Given the description of an element on the screen output the (x, y) to click on. 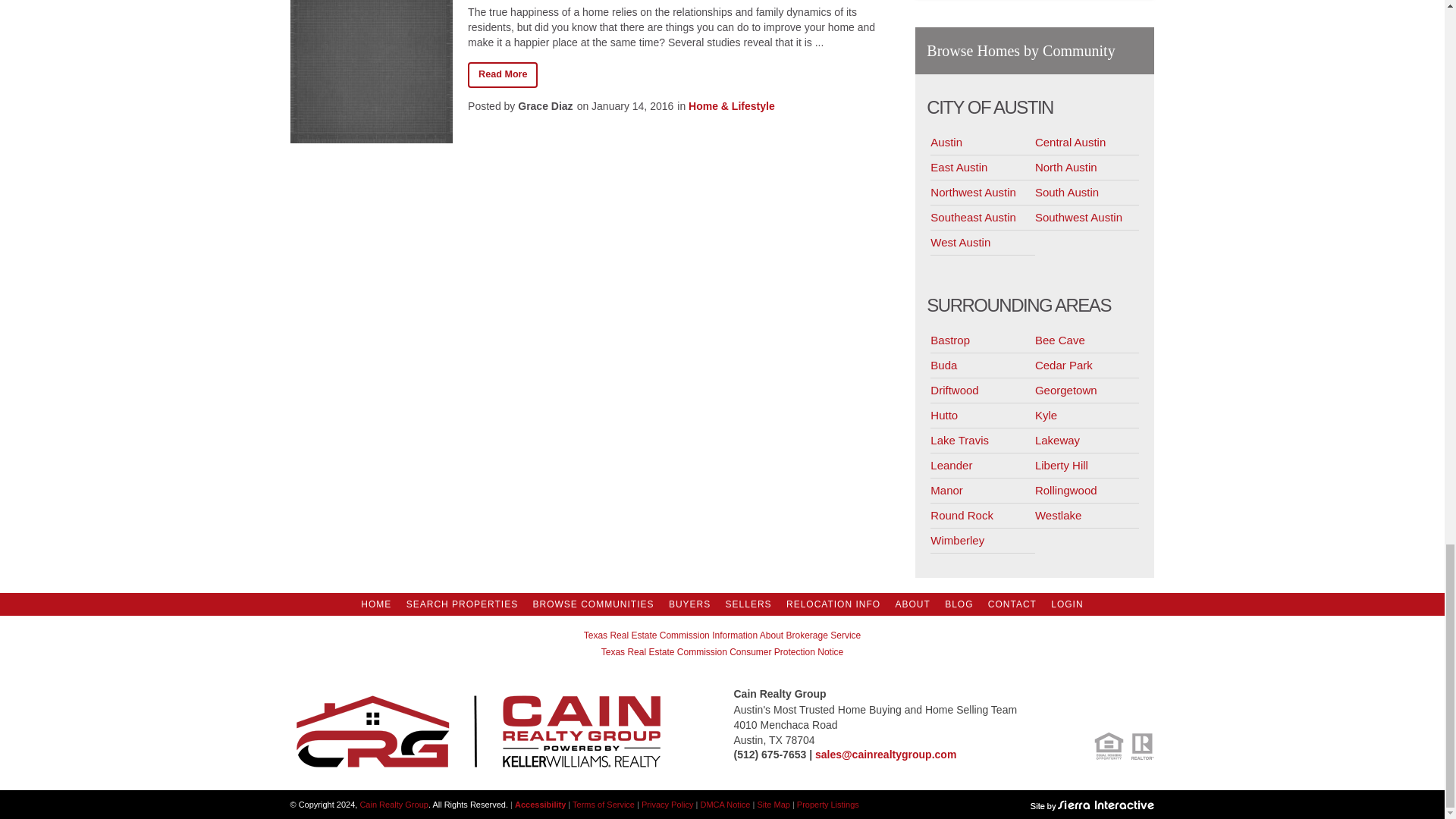
Five Simple Tweaks for a Happier Home (502, 74)
View Austin (982, 142)
